Given the description of an element on the screen output the (x, y) to click on. 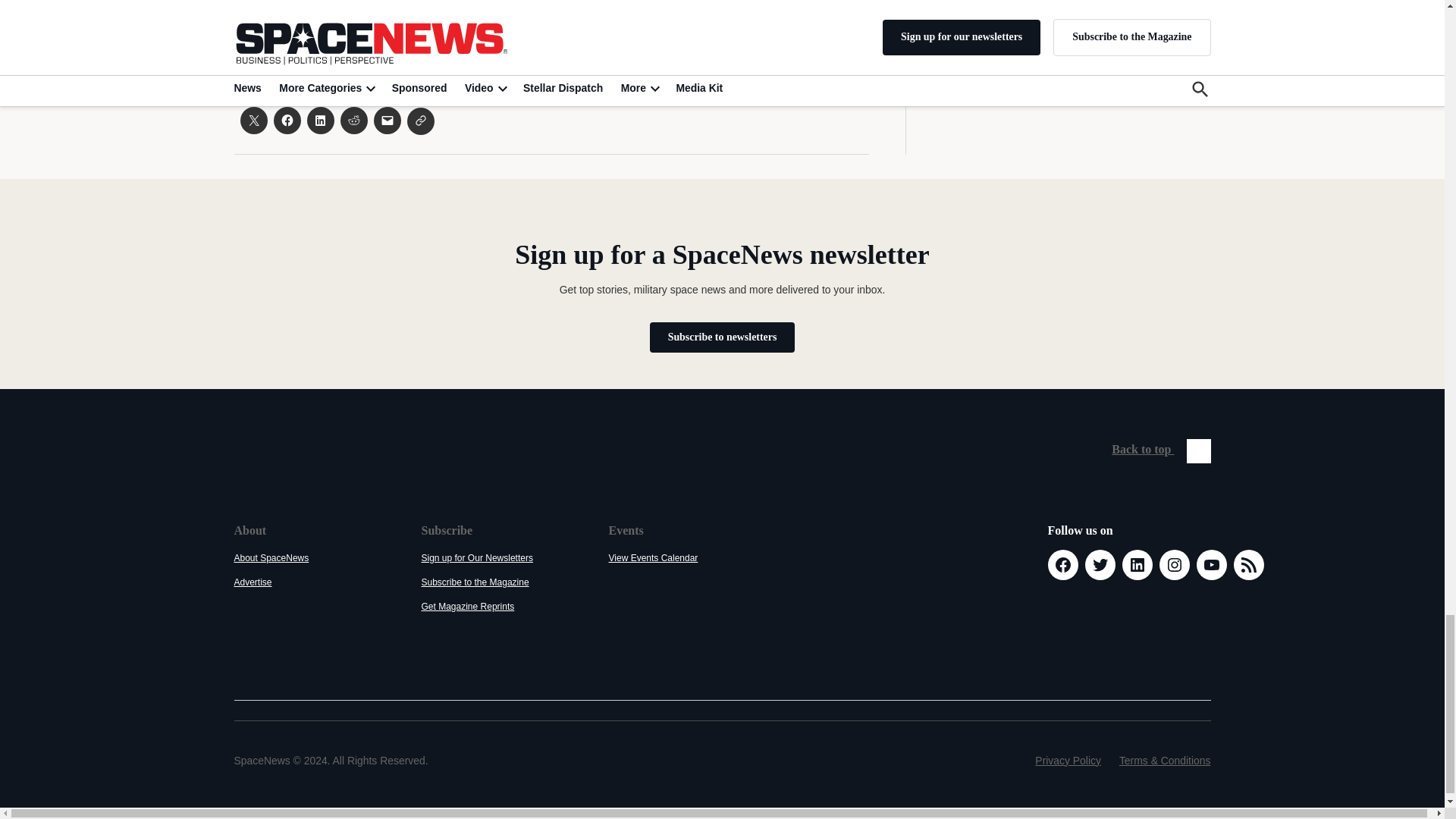
Click to share on LinkedIn (319, 120)
Click to share on X (253, 120)
Click to share on Reddit (352, 120)
Click to share on Facebook (286, 120)
Click to email a link to a friend (386, 120)
